Given the description of an element on the screen output the (x, y) to click on. 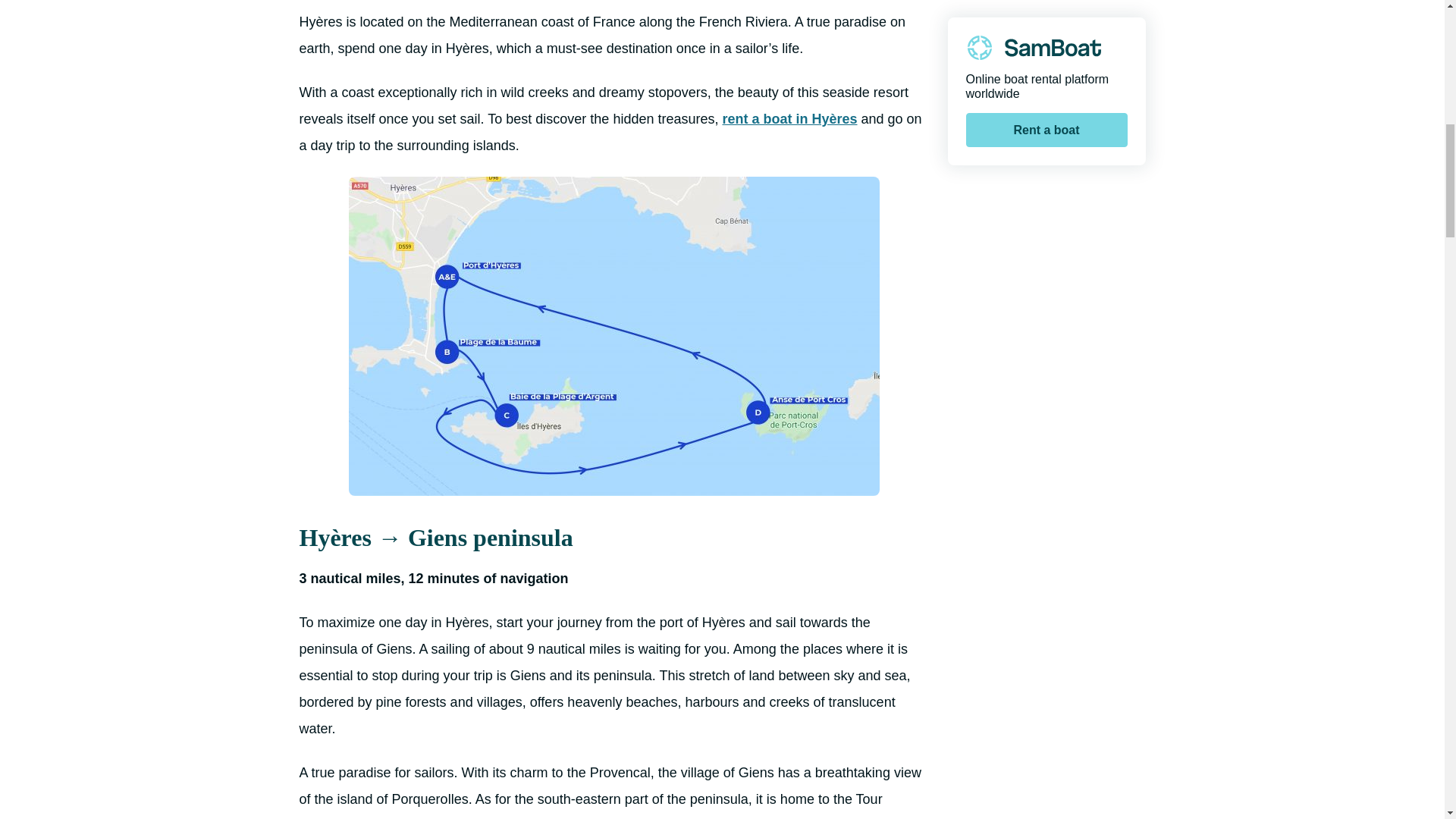
Boat rental (1034, 39)
Rent a boat (1046, 121)
